Given the description of an element on the screen output the (x, y) to click on. 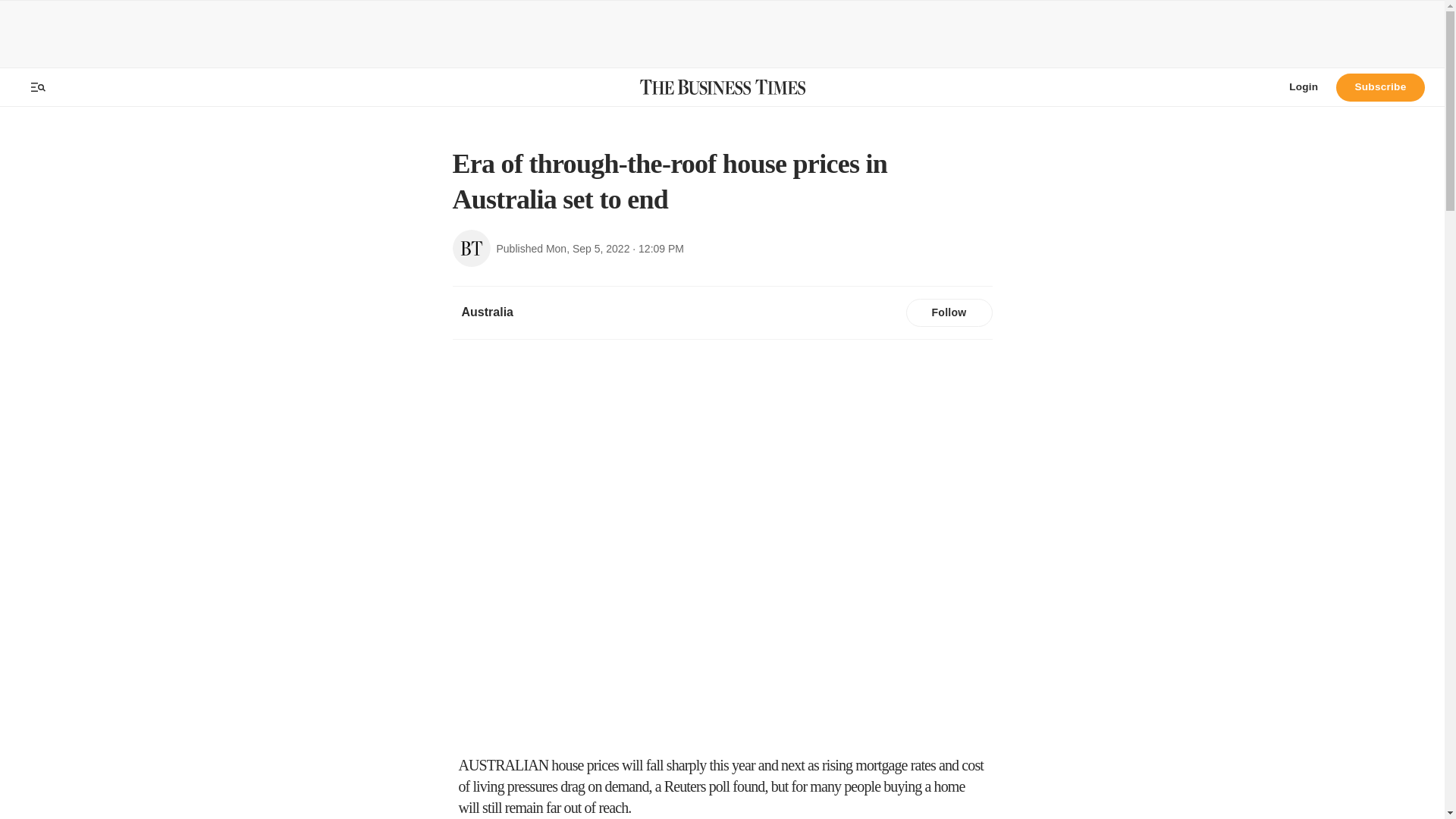
Australia (486, 312)
Subscribe (1379, 86)
Login (1302, 86)
The Business Times (722, 86)
Follow (948, 312)
